Given the description of an element on the screen output the (x, y) to click on. 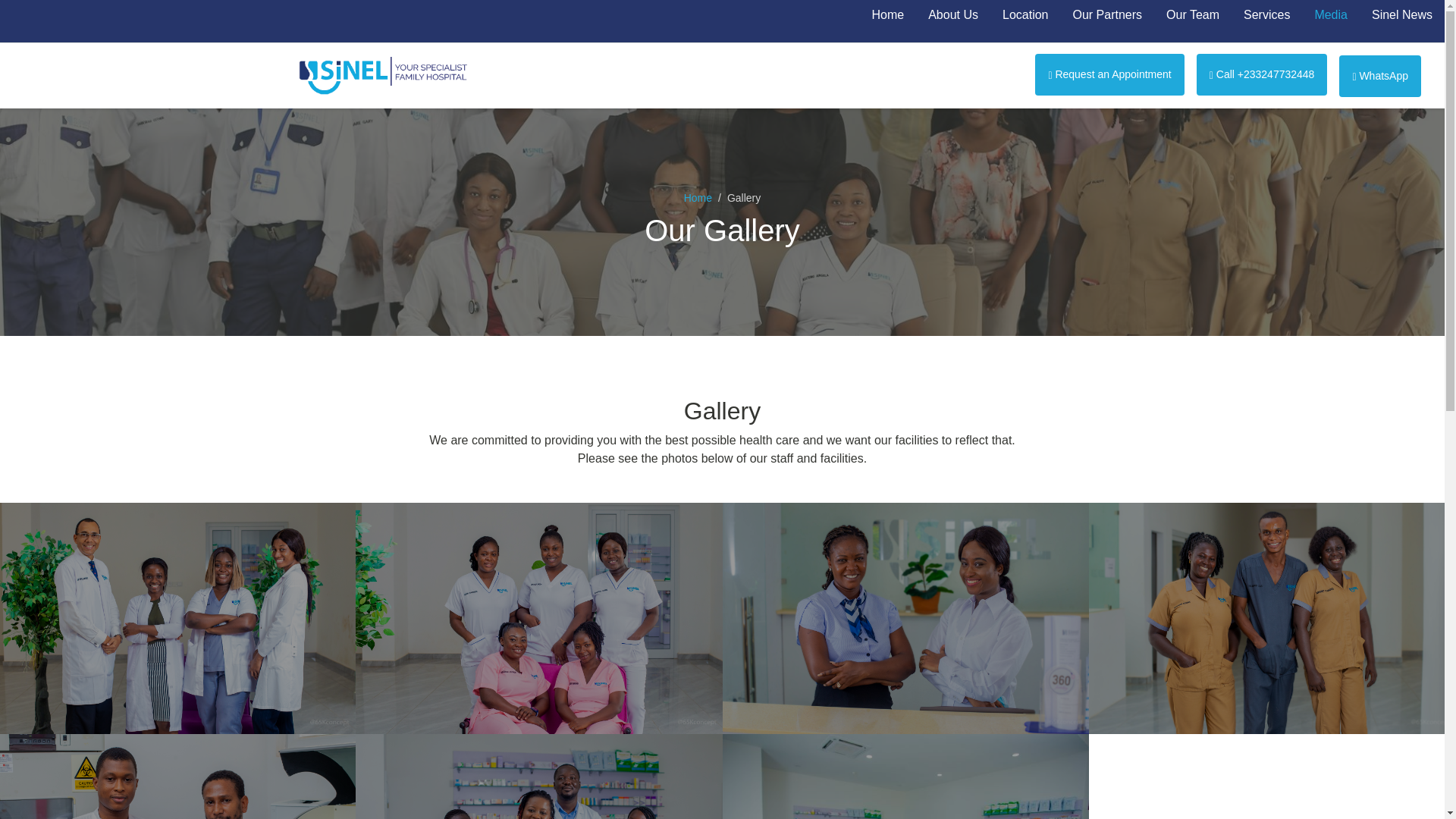
Our Partners (1106, 15)
WhatsApp (1380, 75)
Sinel News (1401, 15)
Our Team (1192, 15)
Services (1266, 15)
Home (887, 15)
Media (1330, 15)
Request an Appointment (1109, 74)
About Us (952, 15)
Location (1025, 15)
